Given the description of an element on the screen output the (x, y) to click on. 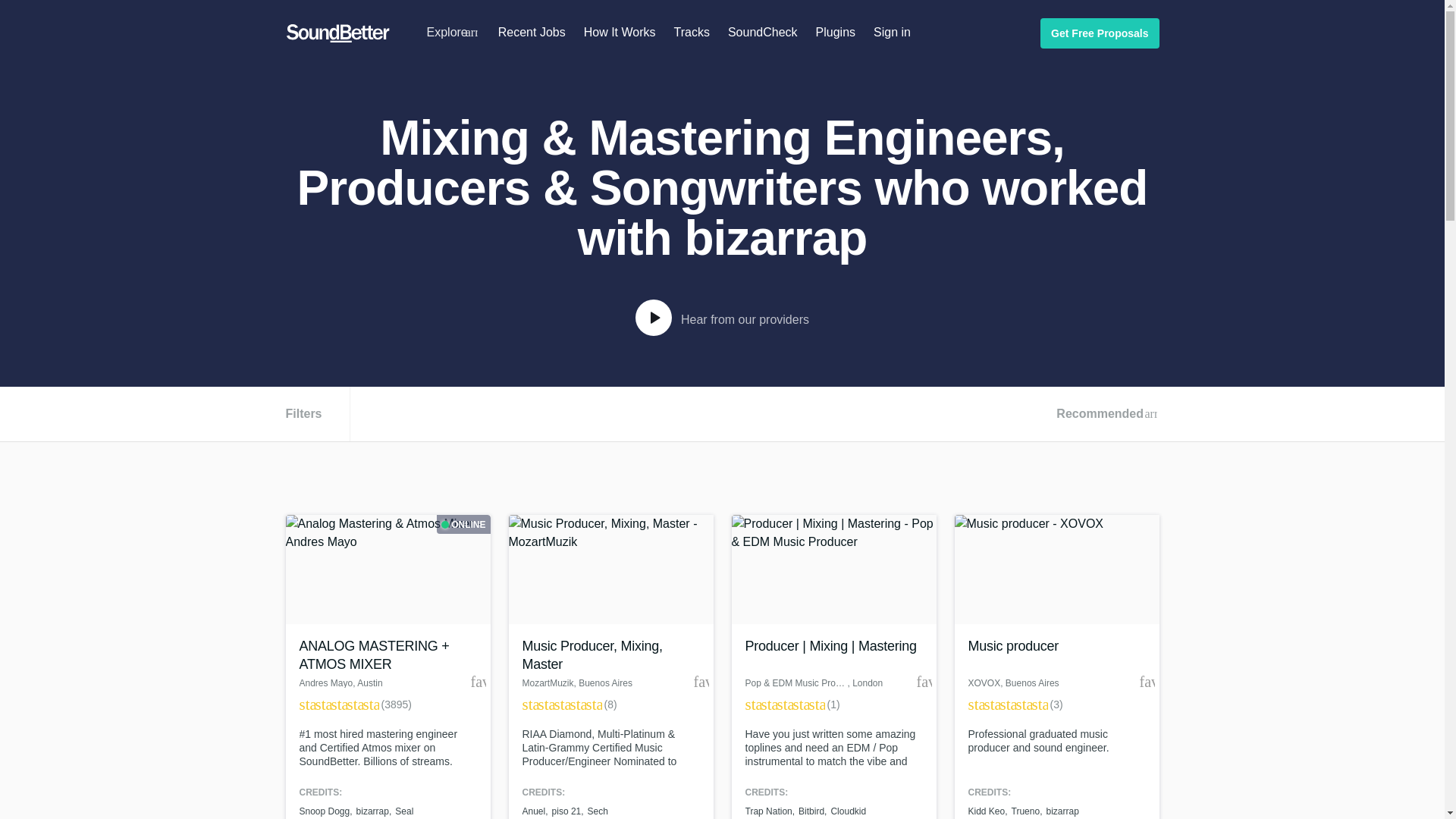
Online now (463, 524)
SoundBetter (337, 33)
